Given the description of an element on the screen output the (x, y) to click on. 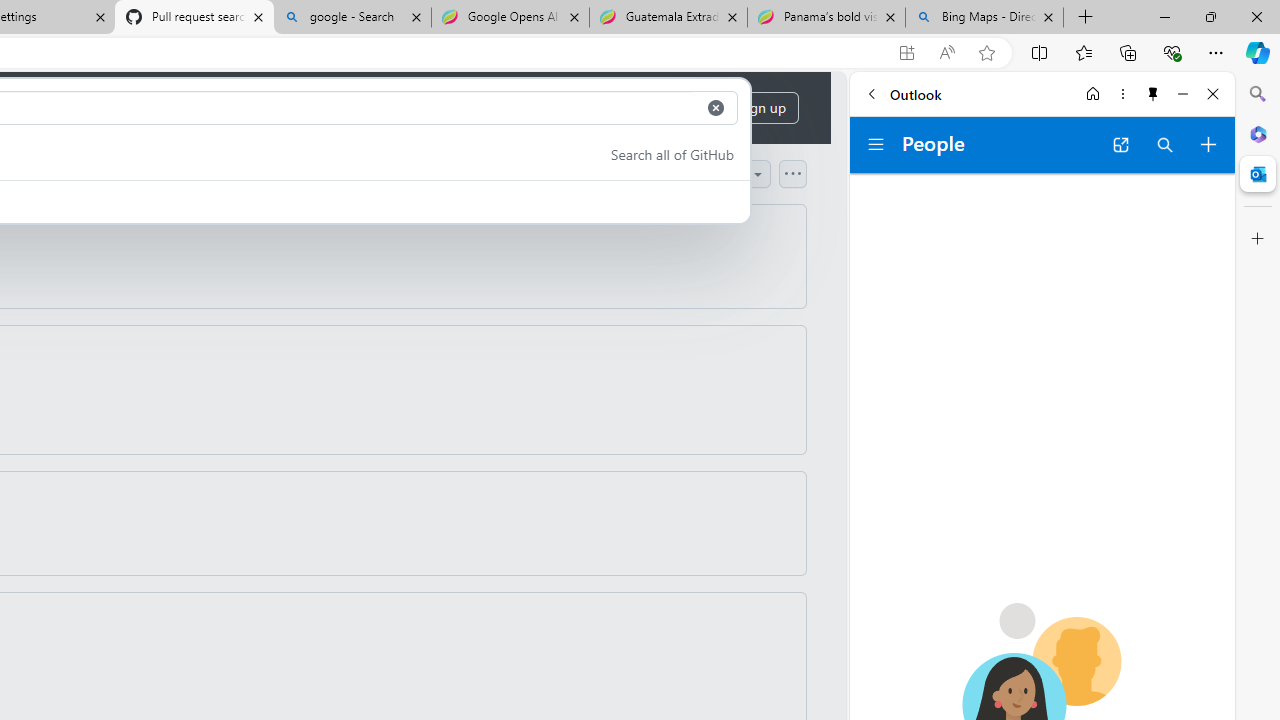
Create new contact (1208, 144)
Google Opens AI Academy for Startups - Nearshore Americas (509, 17)
